Given the description of an element on the screen output the (x, y) to click on. 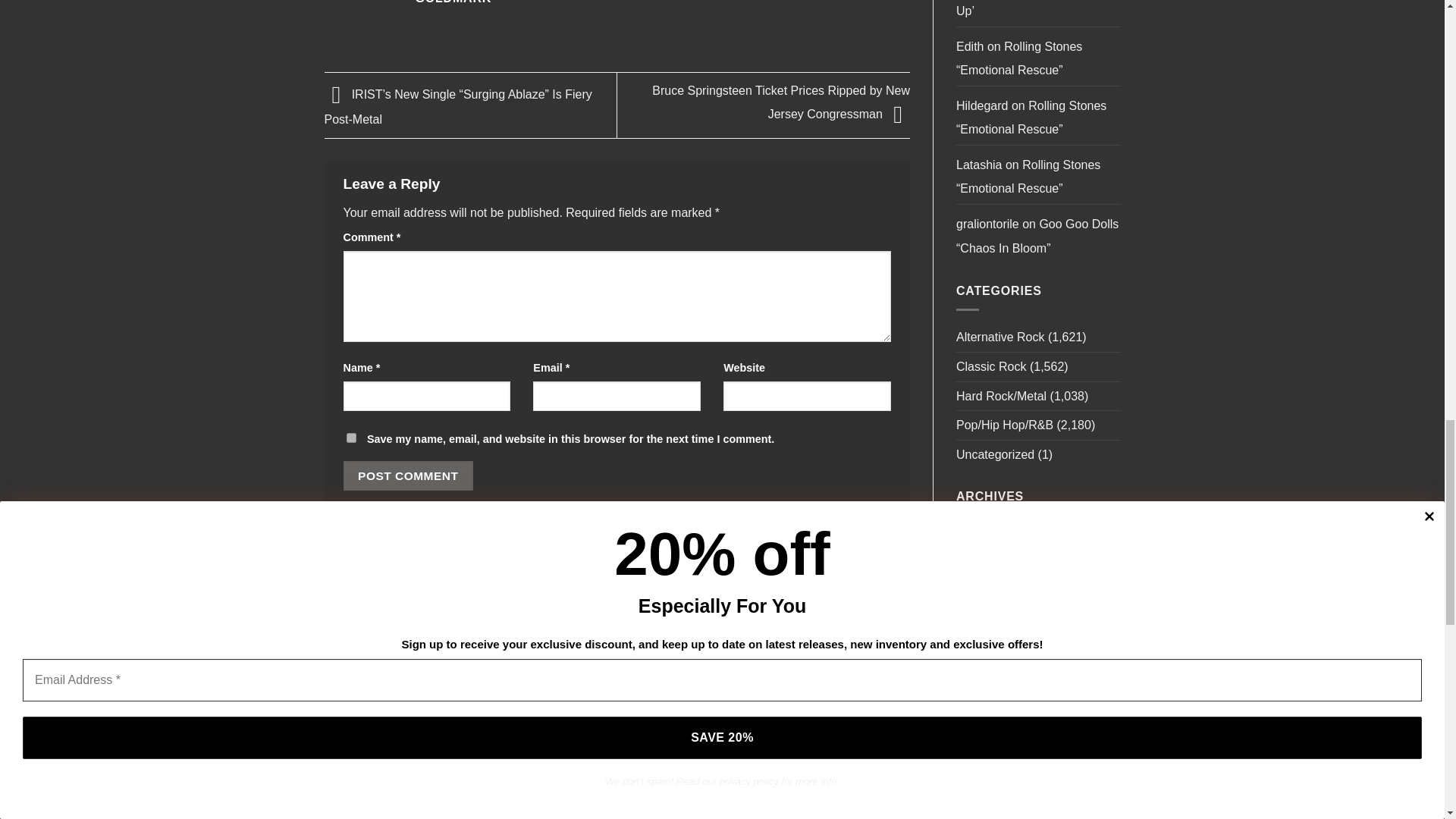
Post Comment (407, 475)
yes (350, 438)
